Given the description of an element on the screen output the (x, y) to click on. 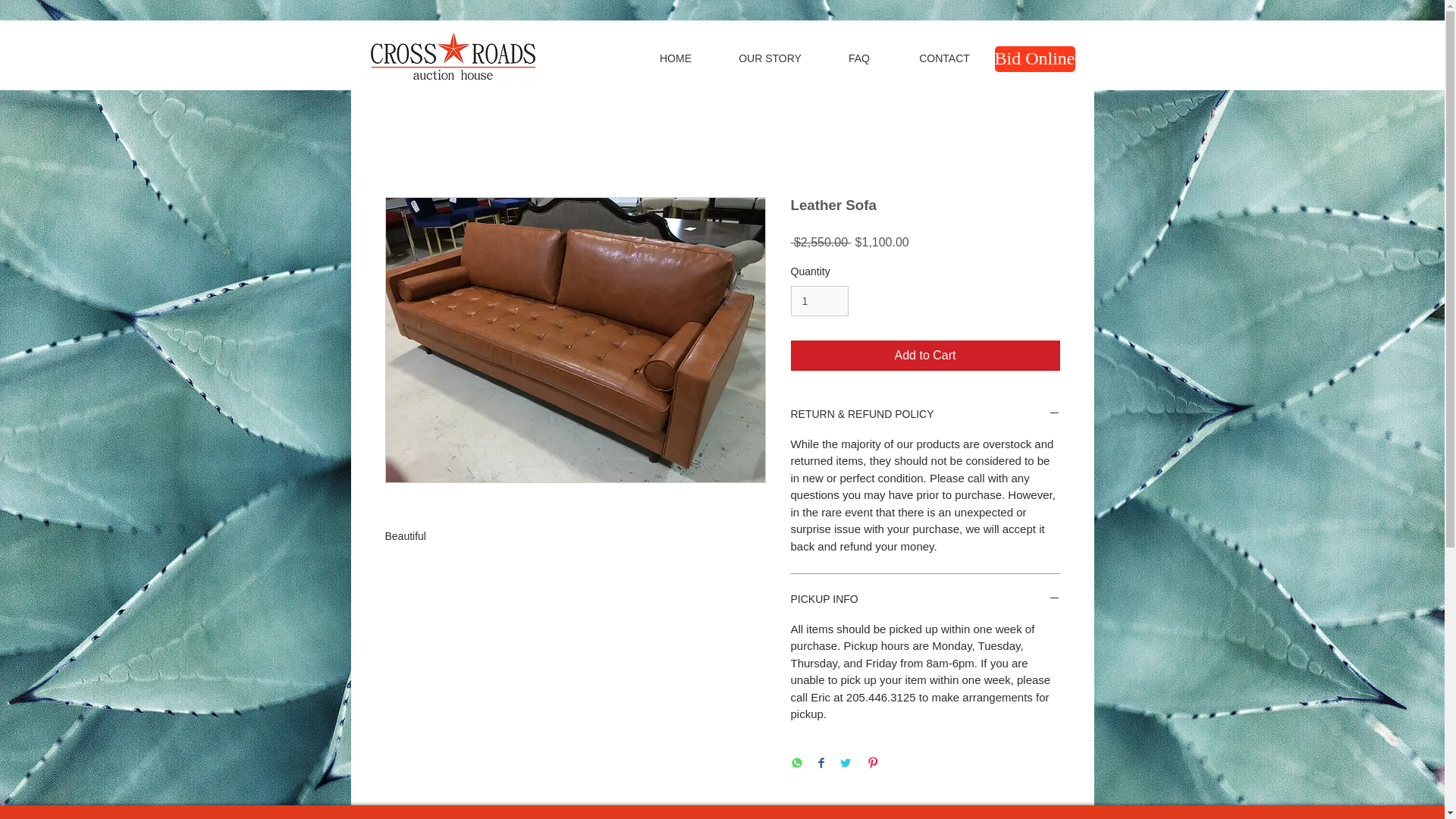
PICKUP INFO (924, 600)
HOME (675, 58)
Add to Cart (924, 355)
OUR STORY (770, 58)
1 (818, 300)
FAQ (858, 58)
CONTACT (944, 58)
Bid Online (1034, 58)
